Given the description of an element on the screen output the (x, y) to click on. 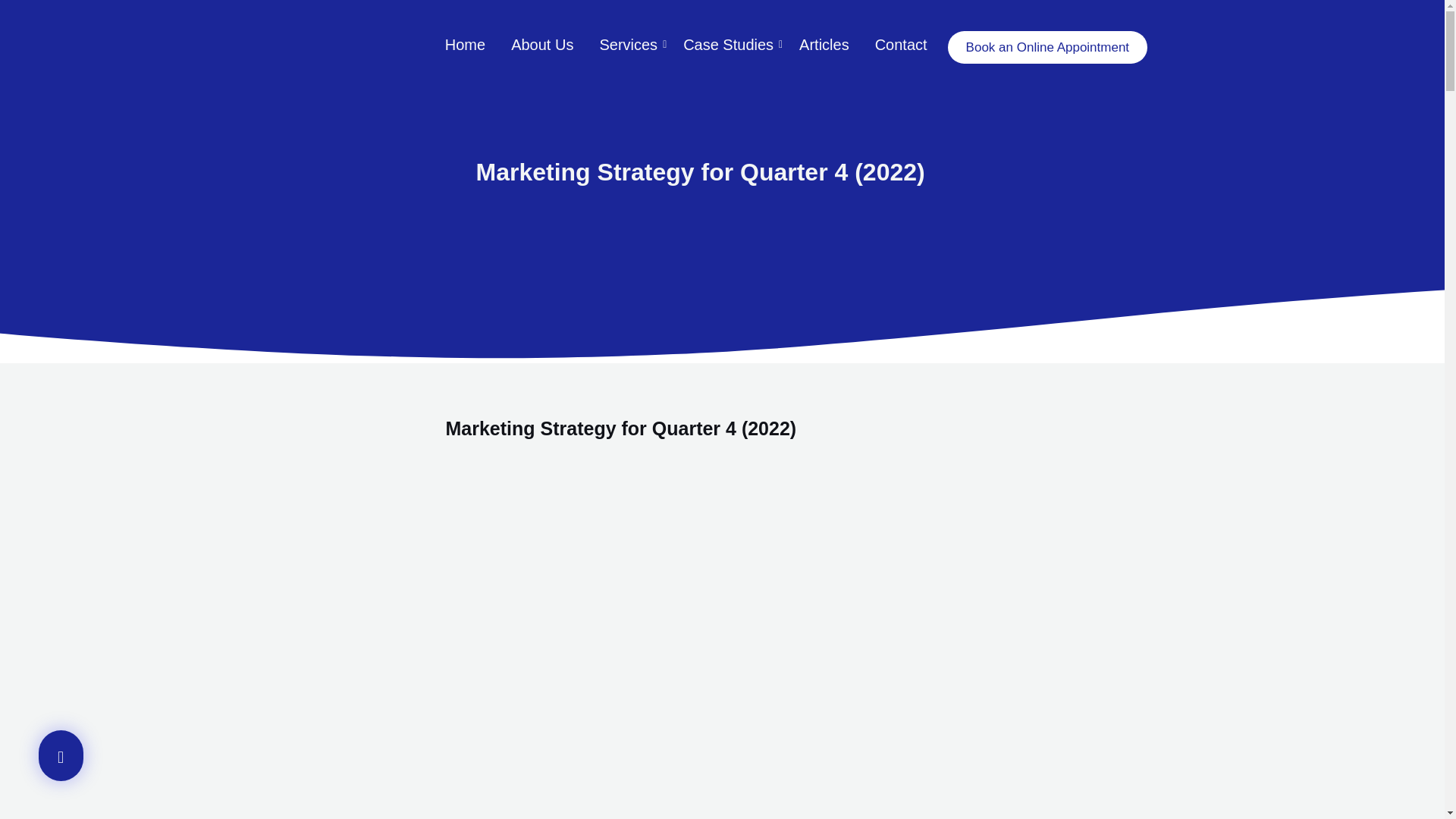
About Us (541, 45)
Home (464, 45)
Case Studies (728, 45)
Services (628, 45)
Book an Online Appointment (1047, 47)
Contact (901, 45)
Articles (823, 45)
